Given the description of an element on the screen output the (x, y) to click on. 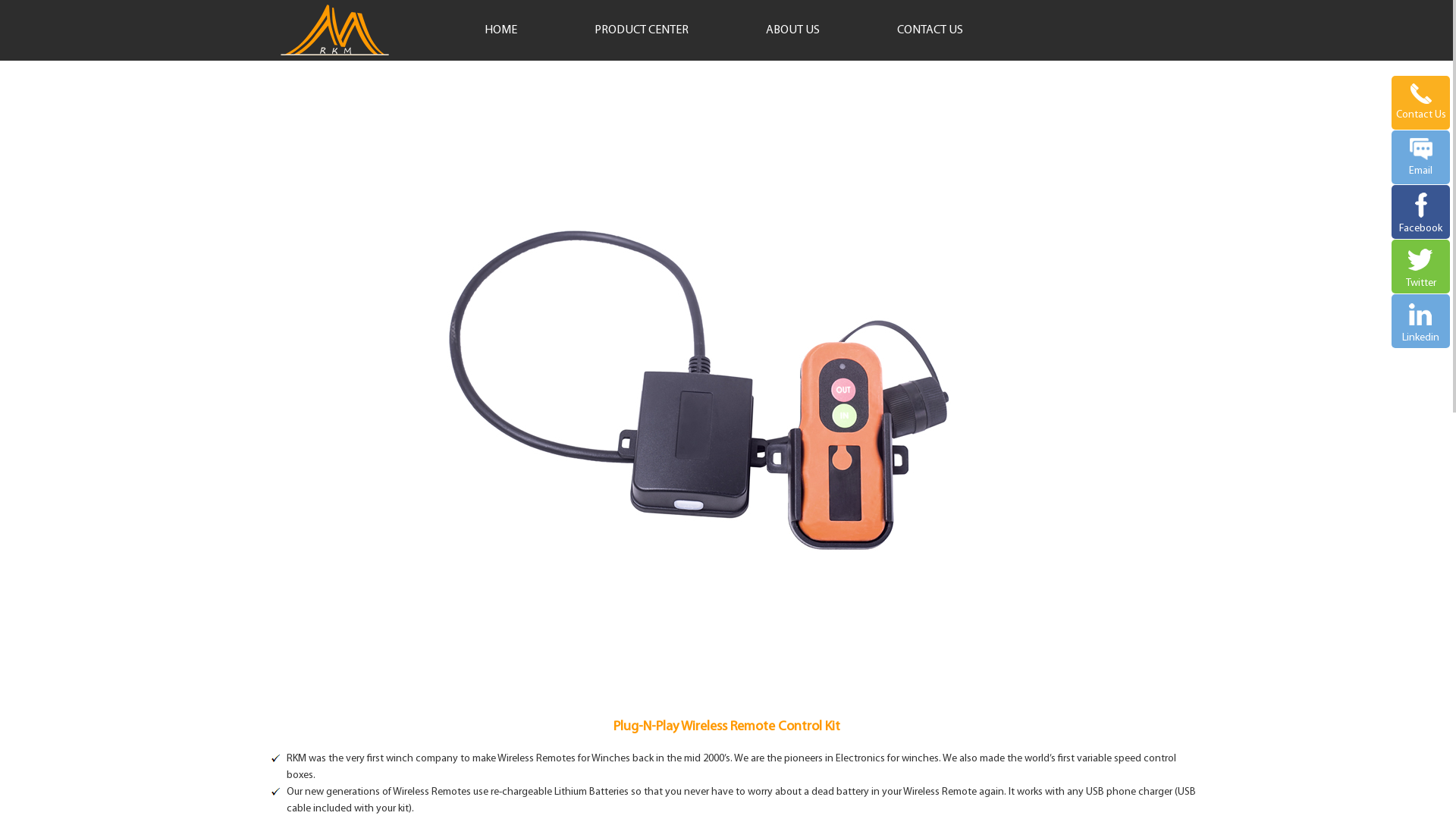
PRODUCT CENTER Element type: text (641, 30)
HOME Element type: text (500, 30)
Linkedin Element type: text (1420, 318)
CONTACT US Element type: text (930, 30)
Facebook Element type: text (1420, 209)
Twitter Element type: text (1420, 263)
Email Element type: text (1420, 153)
Contact Us Element type: text (1420, 97)
ABOUT US Element type: text (792, 30)
